Given the description of an element on the screen output the (x, y) to click on. 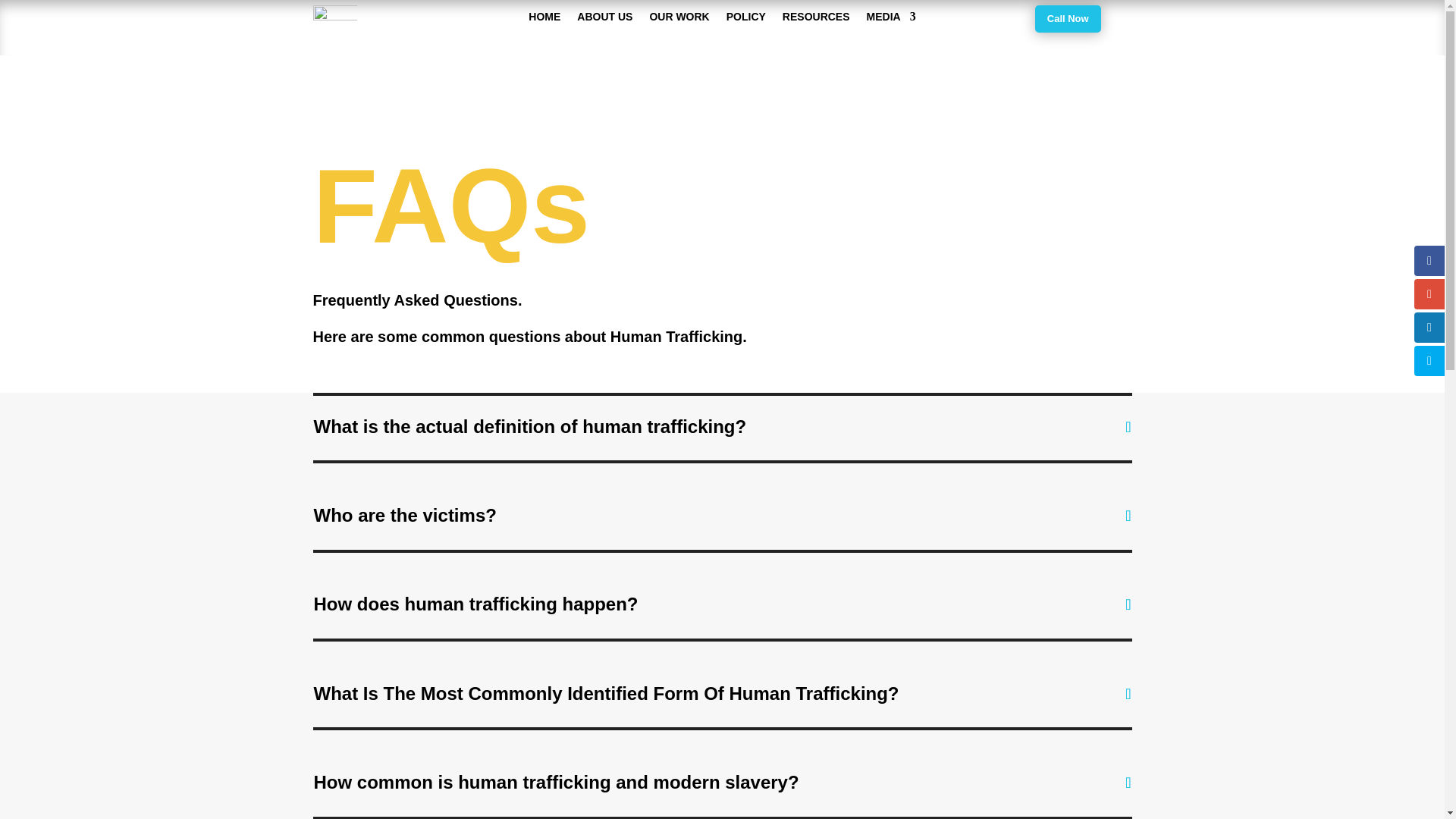
OUR WORK (679, 19)
RESOURCES (816, 19)
HOME (544, 19)
Call Now (1067, 18)
ABOUT US (603, 19)
MEDIA (890, 19)
POLICY (745, 19)
